Given the description of an element on the screen output the (x, y) to click on. 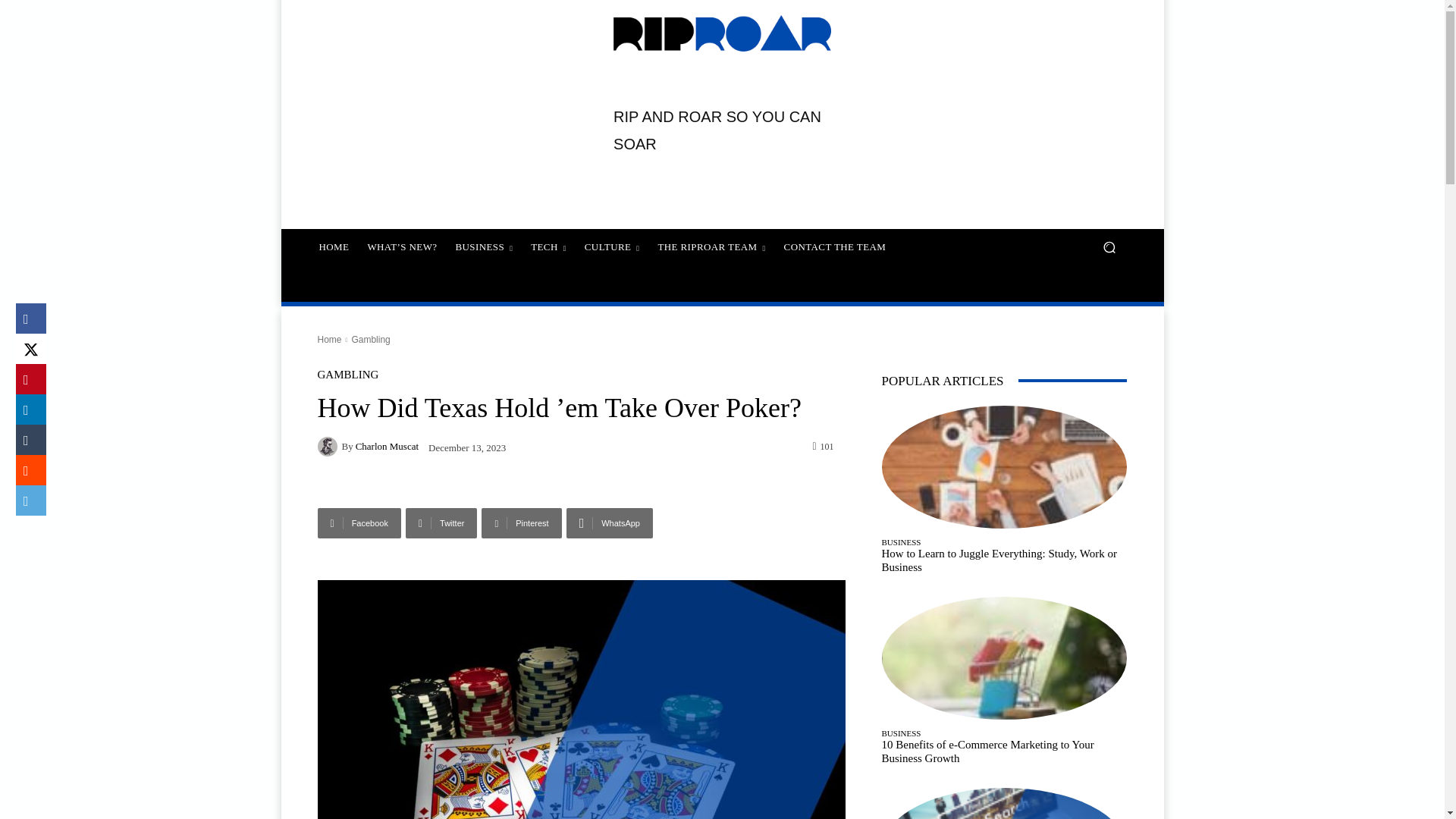
WhatsApp (609, 522)
image1 (580, 699)
Pinterest (520, 522)
Twitter (441, 522)
View all posts in Gambling (370, 339)
Facebook (358, 522)
Charlon Muscat (328, 446)
